Given the description of an element on the screen output the (x, y) to click on. 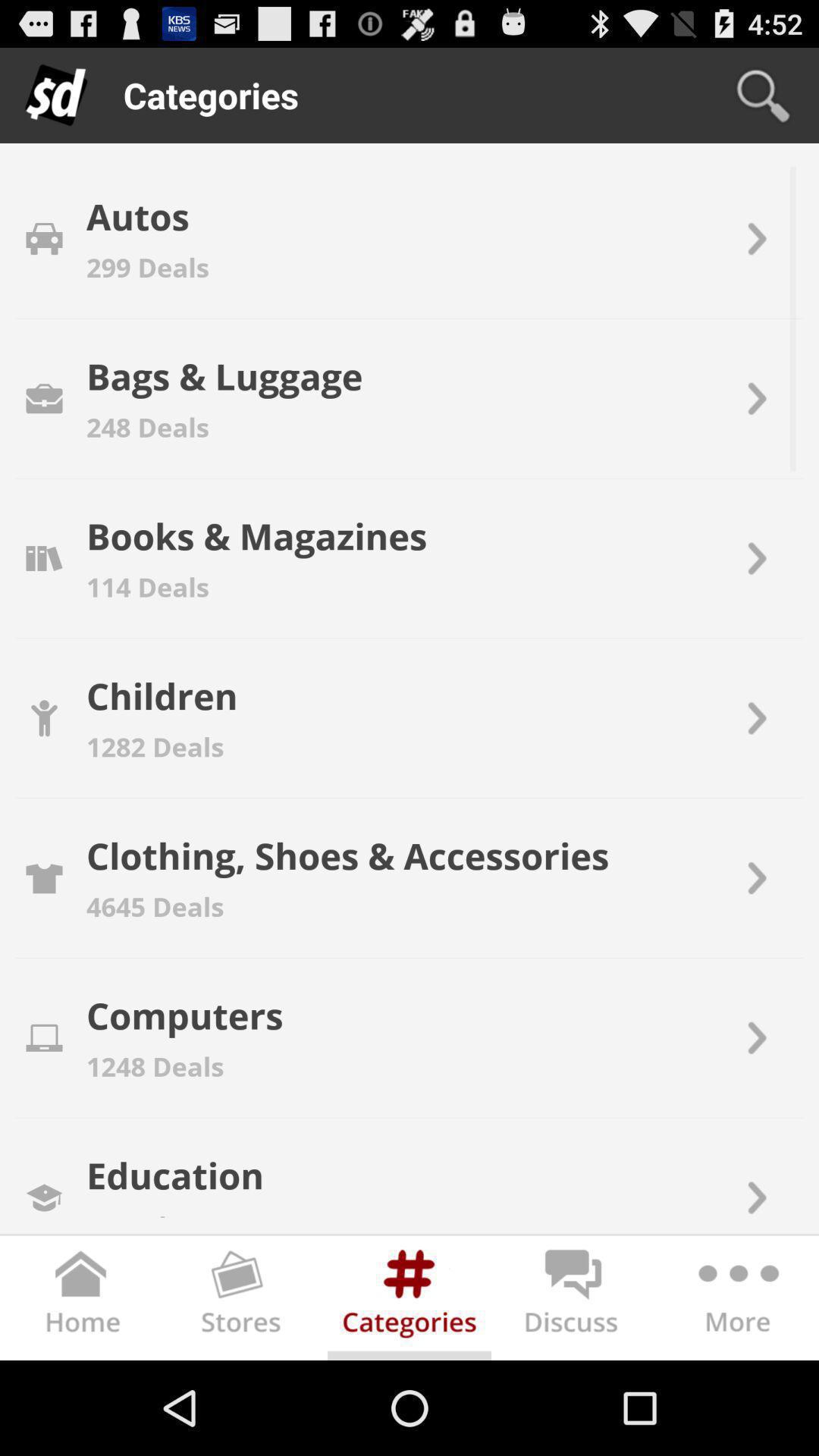
chat (573, 1301)
